Given the description of an element on the screen output the (x, y) to click on. 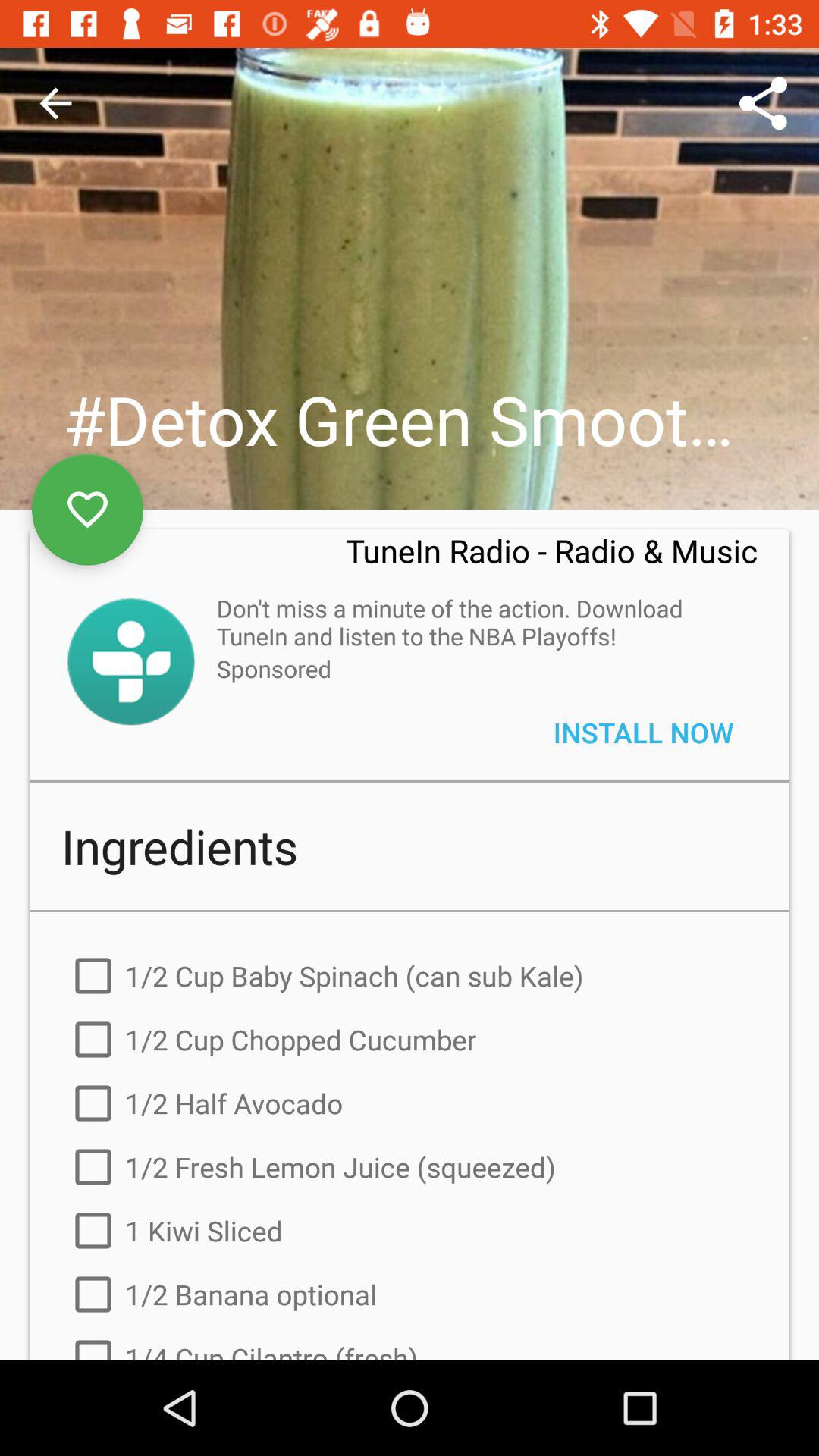
open the icon at the top left corner (55, 103)
